Given the description of an element on the screen output the (x, y) to click on. 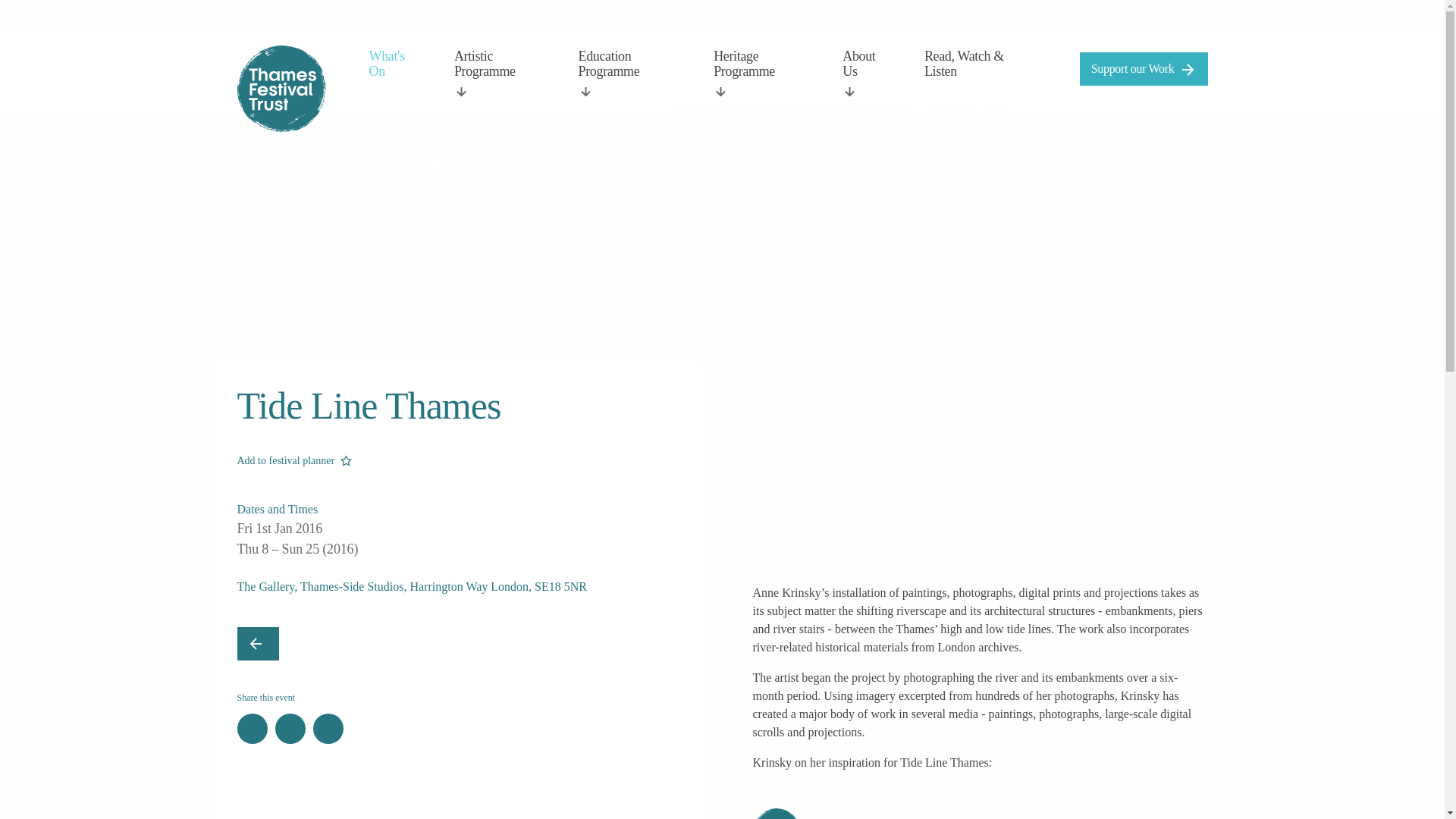
Support our Work (1144, 68)
Artistic Programme (495, 74)
Thames Festival Trust (280, 88)
Education Programme (625, 74)
Education Programme (625, 74)
Home (254, 160)
Heritage Programme (757, 74)
Thames Festival Trust Logo (280, 88)
Heritage Programme (757, 74)
Artistic Programme (495, 74)
